Given the description of an element on the screen output the (x, y) to click on. 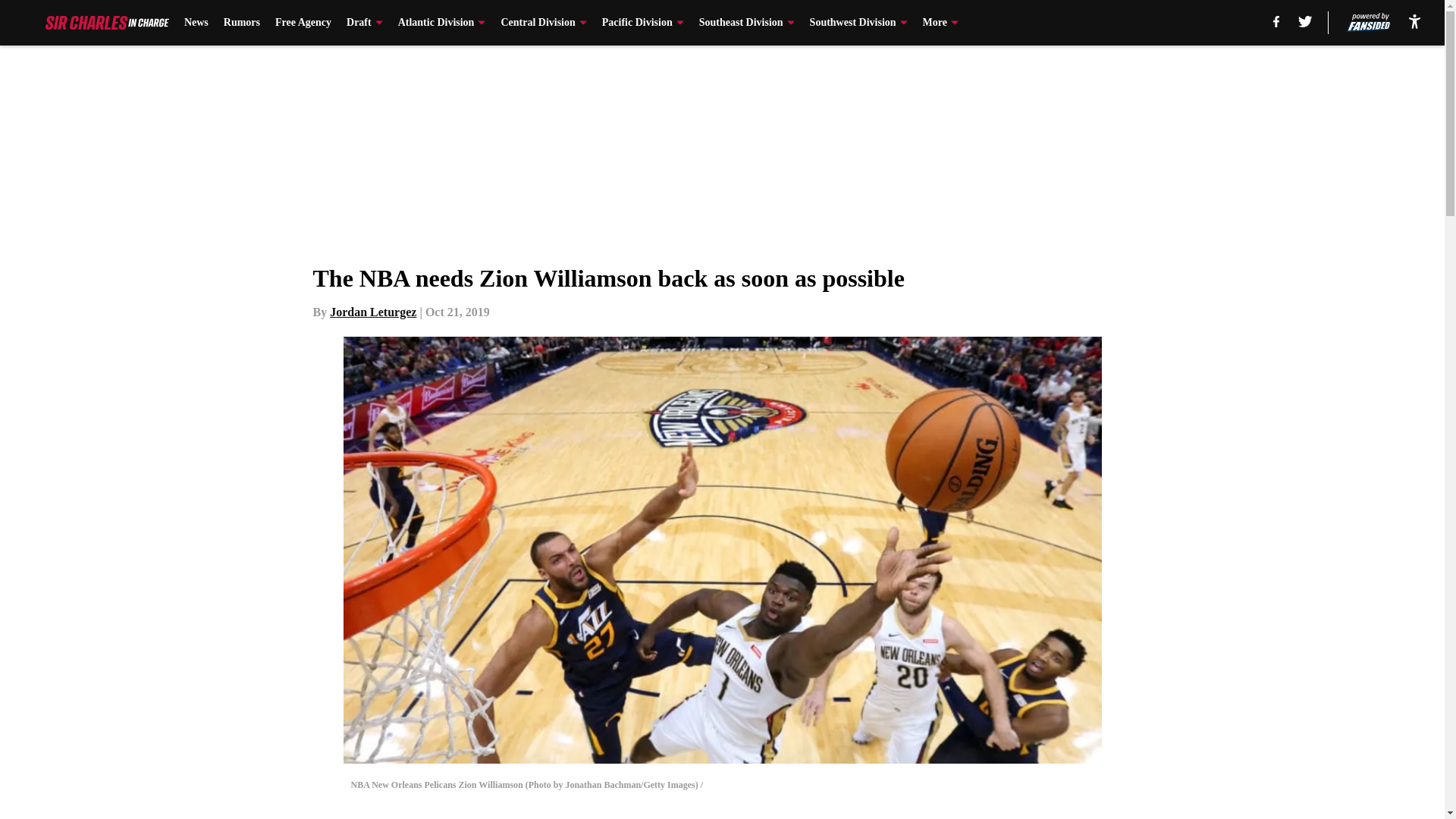
Free Agency (303, 22)
Atlantic Division (441, 22)
Pacific Division (643, 22)
Draft (364, 22)
Rumors (242, 22)
Southeast Division (746, 22)
Central Division (543, 22)
News (196, 22)
